Given the description of an element on the screen output the (x, y) to click on. 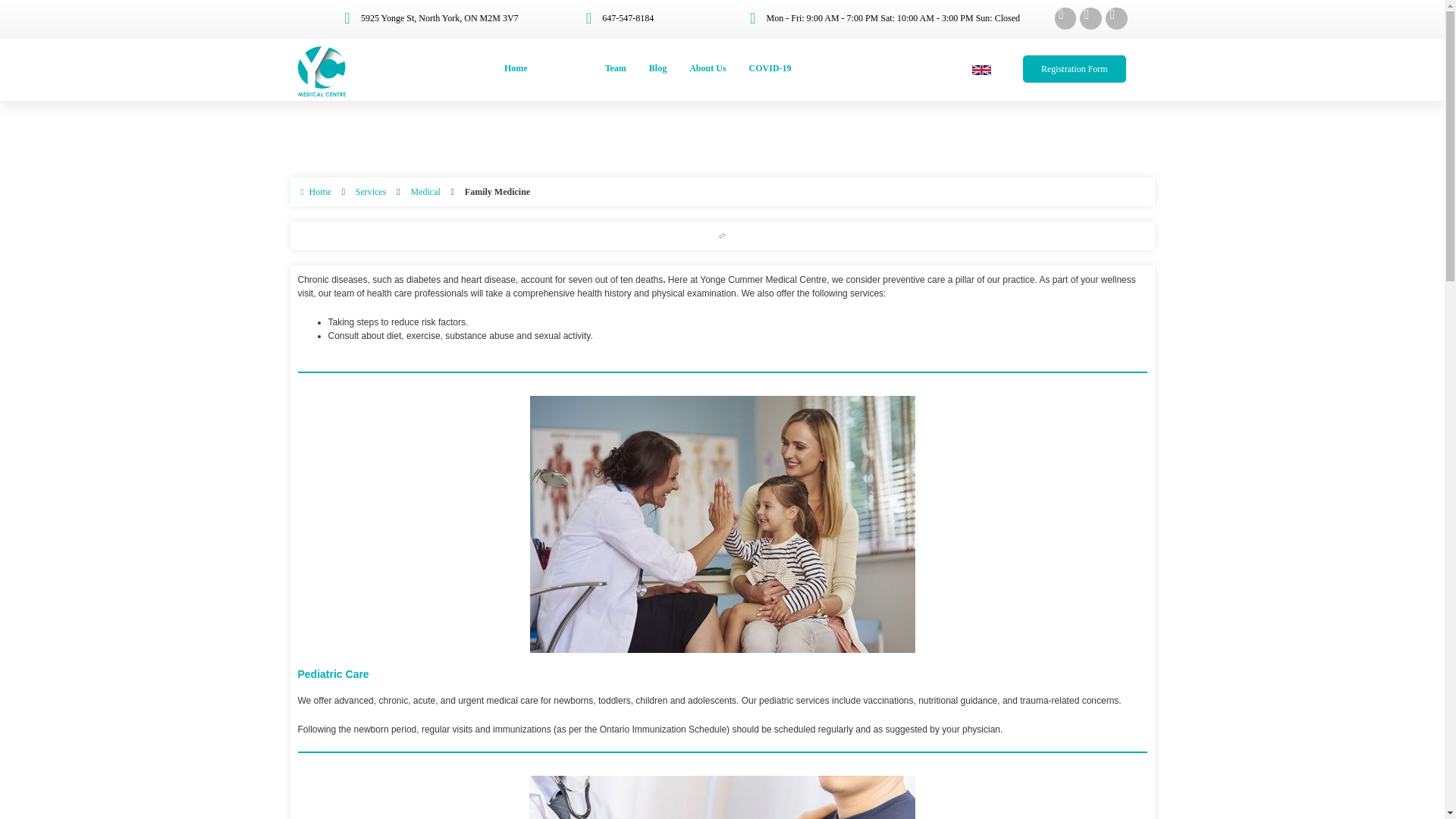
Home (515, 69)
Services (566, 69)
647-547-8184 (616, 17)
Home (313, 192)
COVID-19 (770, 69)
About Us (707, 69)
Blog (658, 69)
Team (614, 69)
Family Medicine (496, 192)
